Given the description of an element on the screen output the (x, y) to click on. 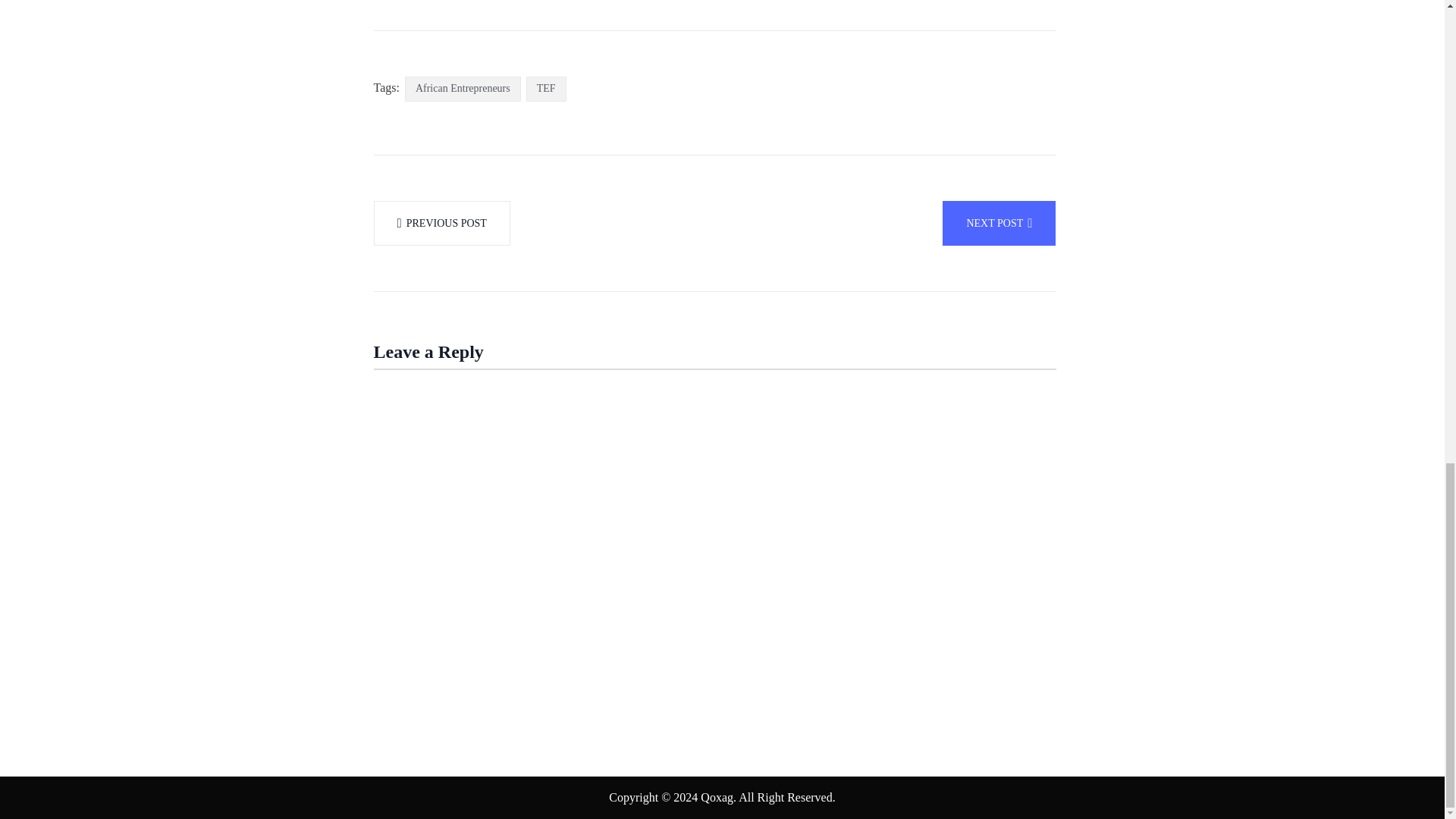
African Entrepreneurs (462, 88)
NEXT POST (998, 222)
PREVIOUS POST (440, 222)
TEF (545, 88)
